Given the description of an element on the screen output the (x, y) to click on. 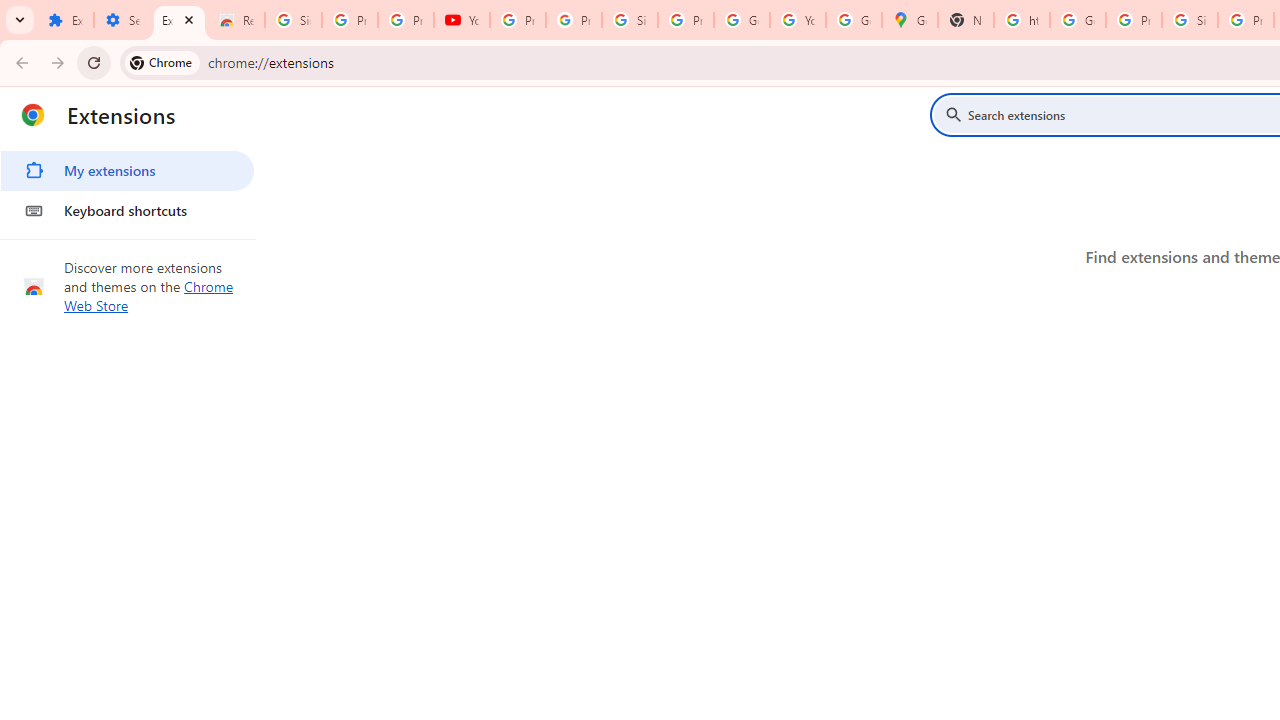
New Tab (966, 20)
Google Maps (909, 20)
